Given the description of an element on the screen output the (x, y) to click on. 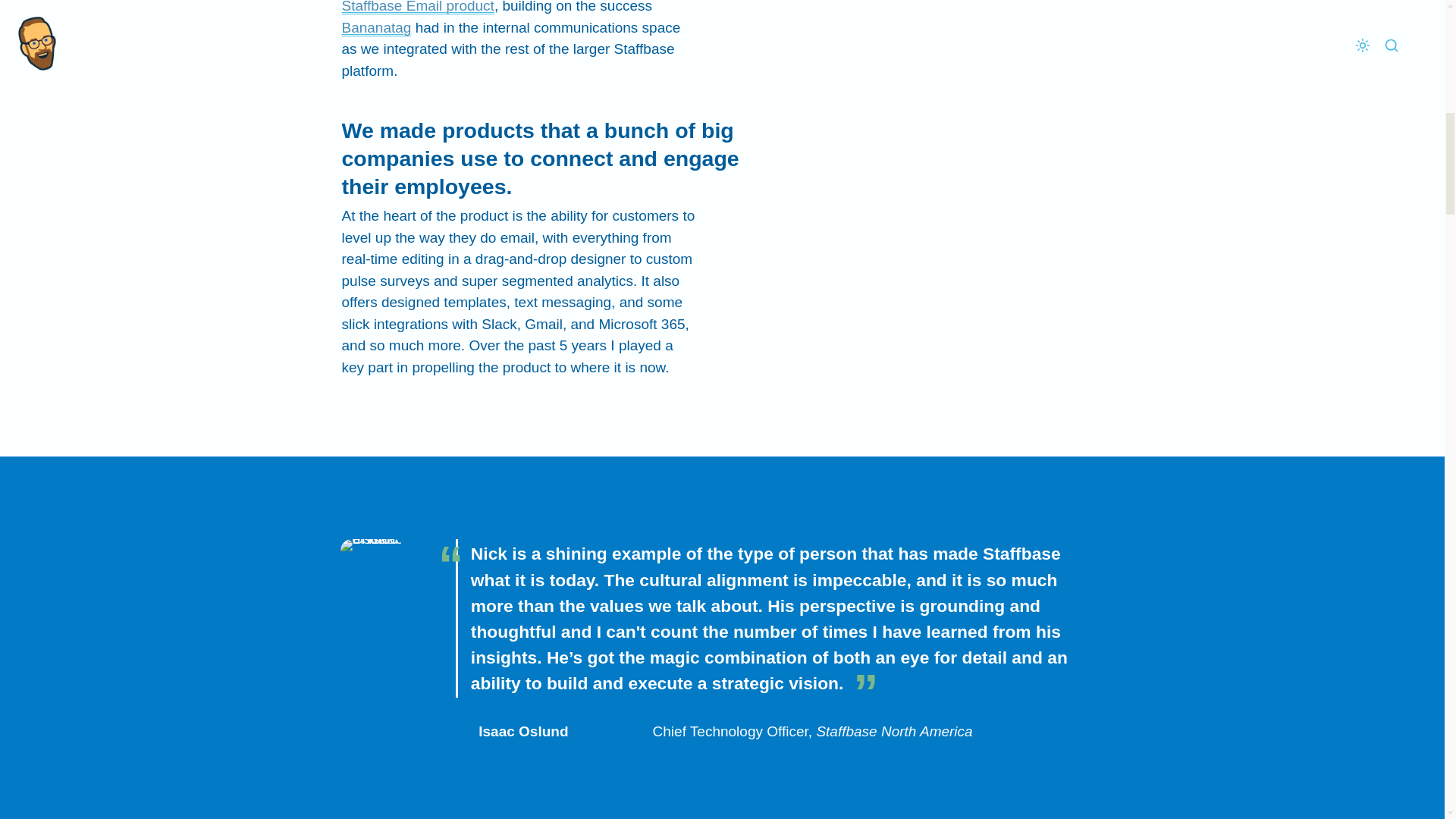
Staffbase Email product (416, 7)
Bananatag (375, 27)
